Given the description of an element on the screen output the (x, y) to click on. 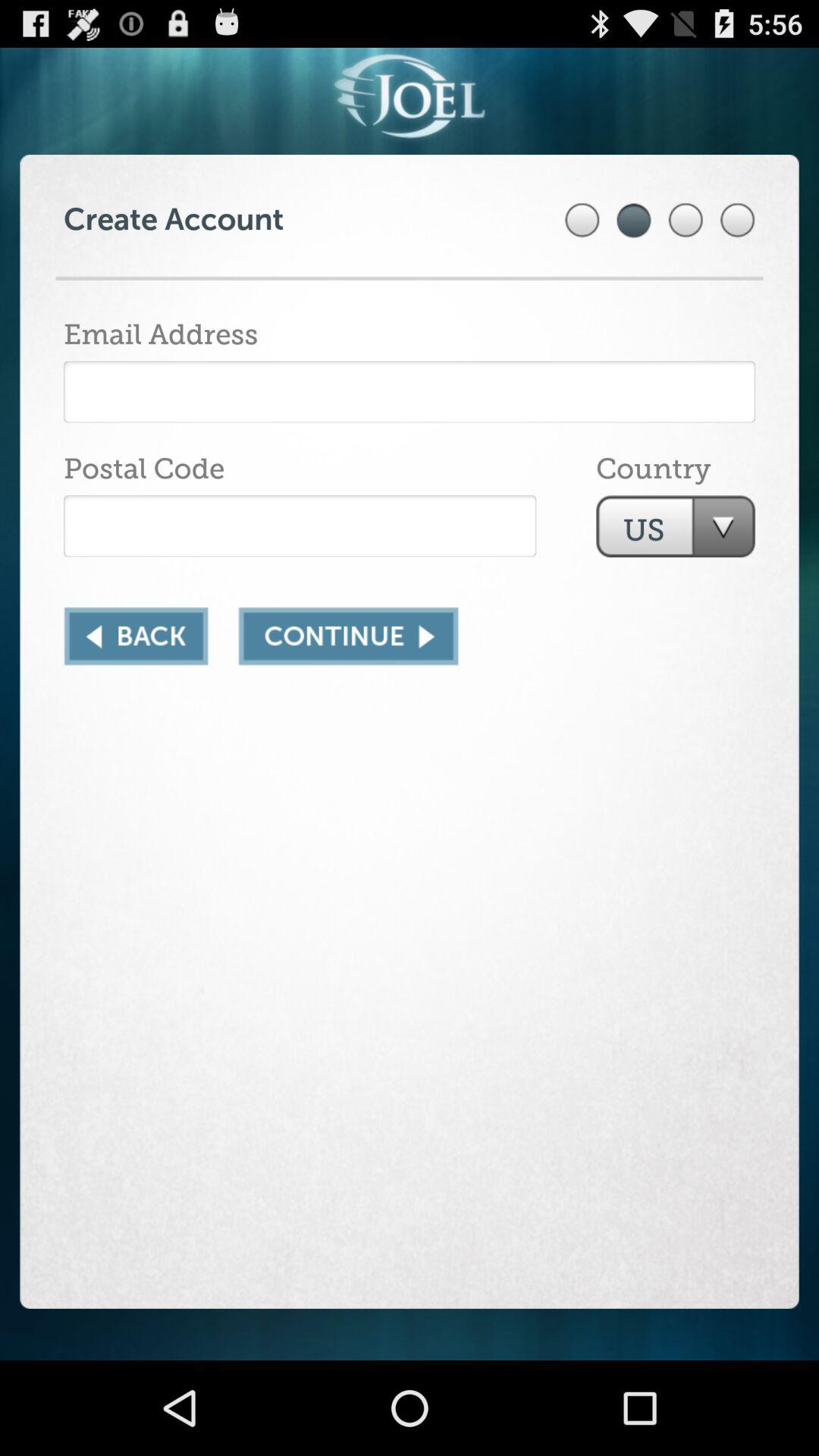
input login credentials (409, 391)
